Given the description of an element on the screen output the (x, y) to click on. 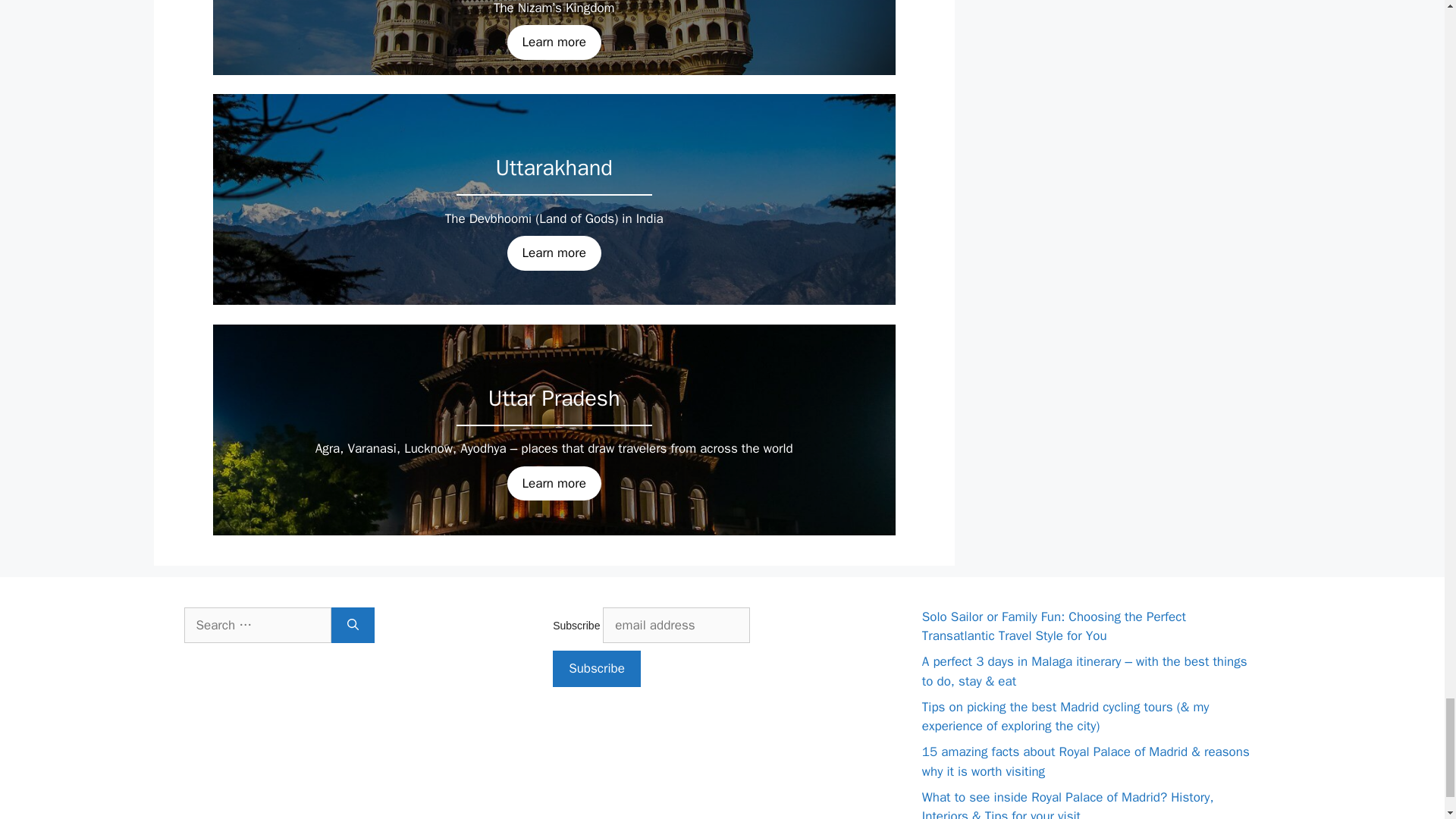
Search for: (256, 625)
Subscribe (596, 668)
